Given the description of an element on the screen output the (x, y) to click on. 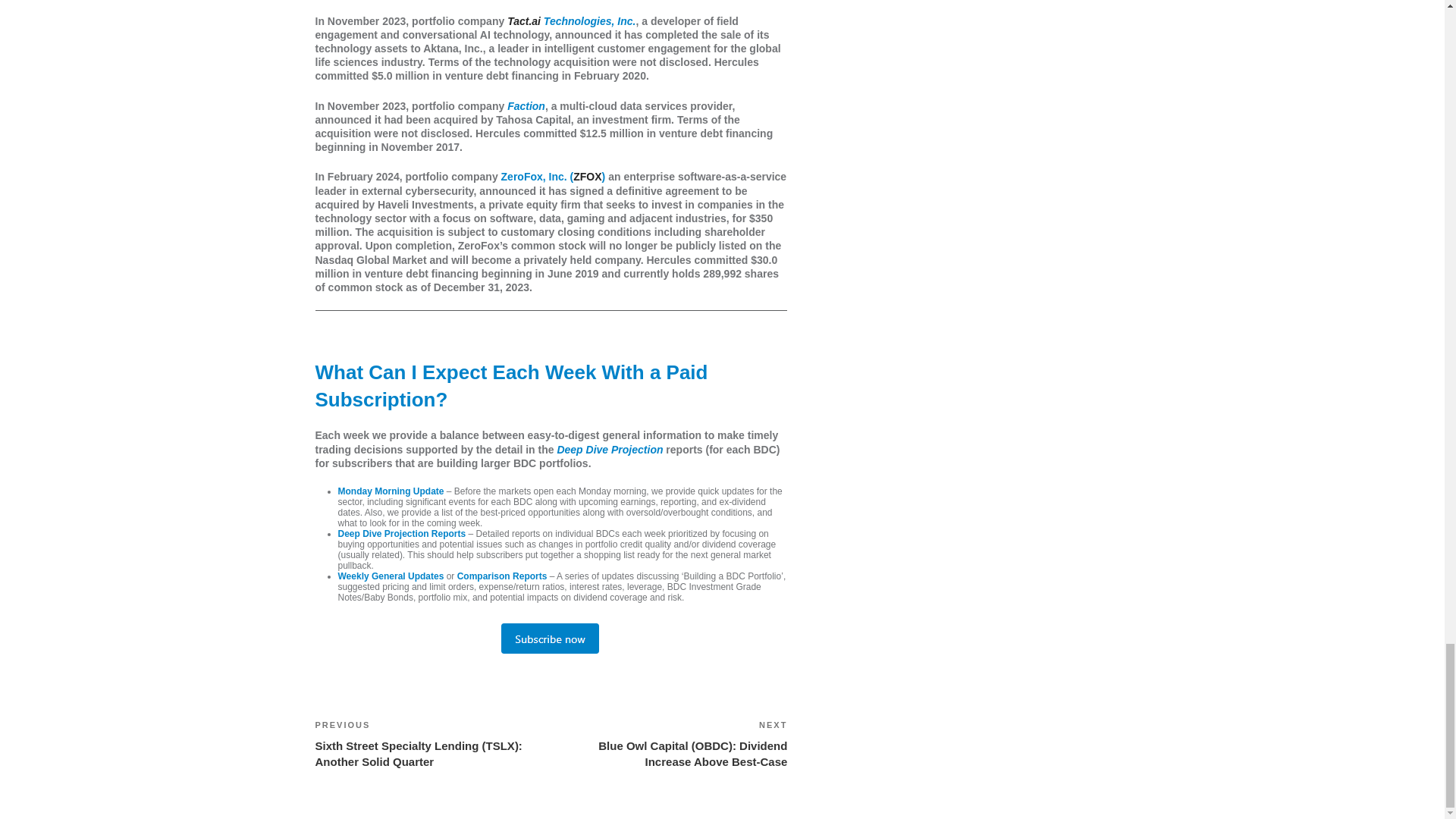
ZeroFox Holdings, Inc. (587, 176)
ZFOX (587, 176)
Tact.ai (523, 21)
Deep Dive Projection (609, 449)
Deep Dive Projection Reports (401, 533)
